Given the description of an element on the screen output the (x, y) to click on. 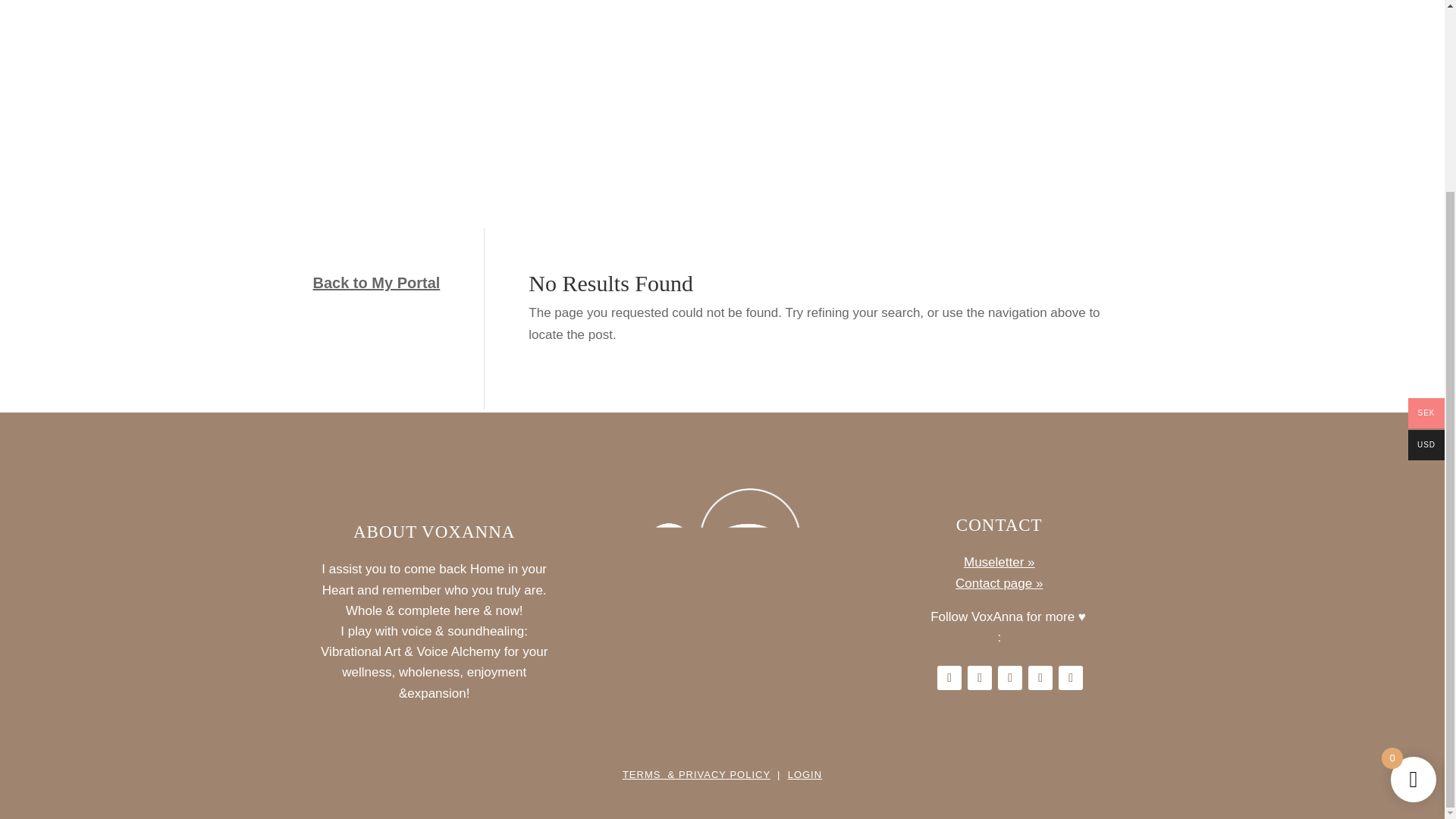
Follow on SoundCloud (1070, 677)
Back to My Portal (376, 282)
Follow on Instagram (979, 677)
Follow on Youtube (1009, 677)
Follow on TikTok (1039, 677)
TERMS  (643, 774)
Follow on Facebook (948, 677)
LOGIN (804, 774)
Voxanna logo white (722, 569)
